Given the description of an element on the screen output the (x, y) to click on. 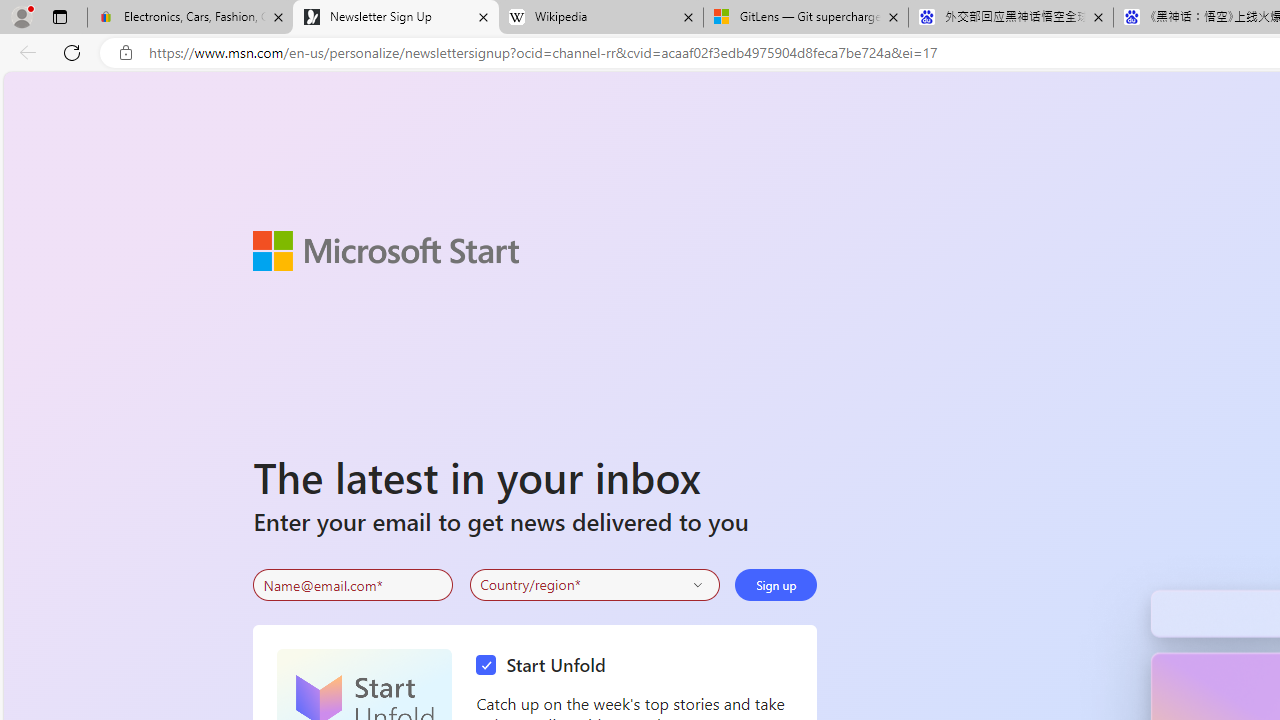
Newsletter Sign Up (395, 17)
